Given the description of an element on the screen output the (x, y) to click on. 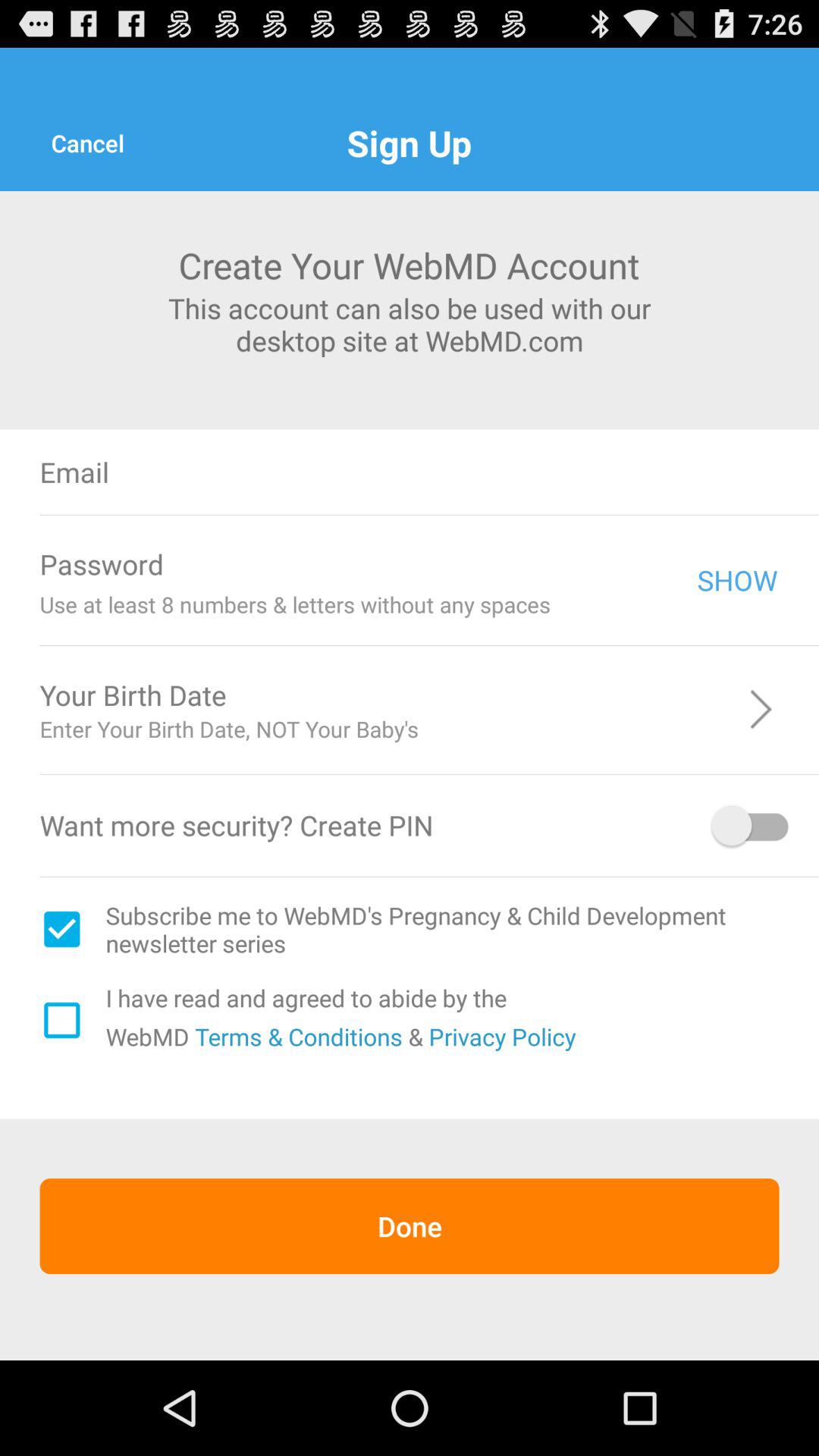
check this box if you are agree to t c (61, 1020)
